Given the description of an element on the screen output the (x, y) to click on. 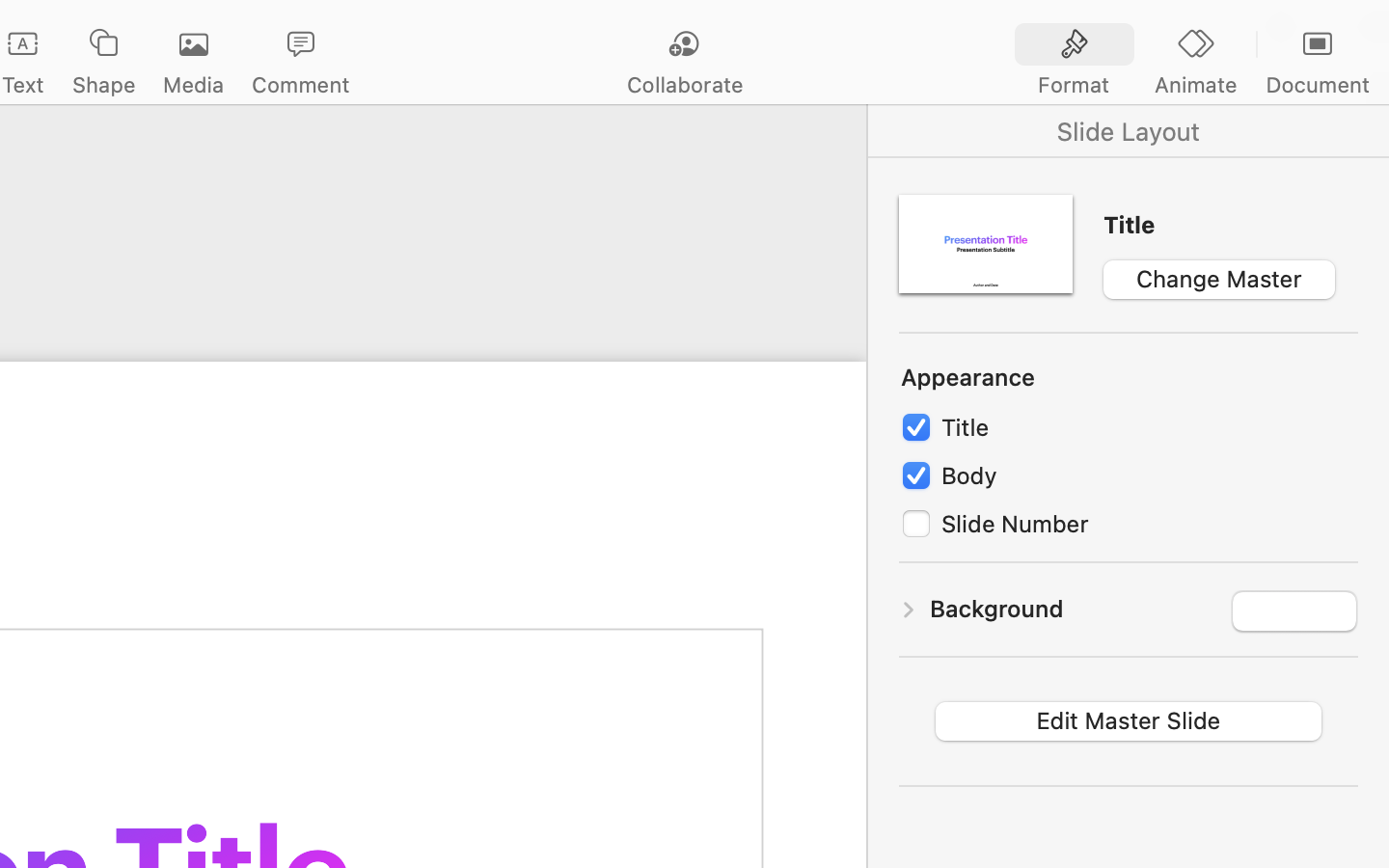
<AXUIElement 0x150f202e0> {pid=1697} Element type: AXRadioGroup (1128, 131)
Animate Element type: AXStaticText (1194, 84)
Background Element type: AXStaticText (996, 608)
